Given the description of an element on the screen output the (x, y) to click on. 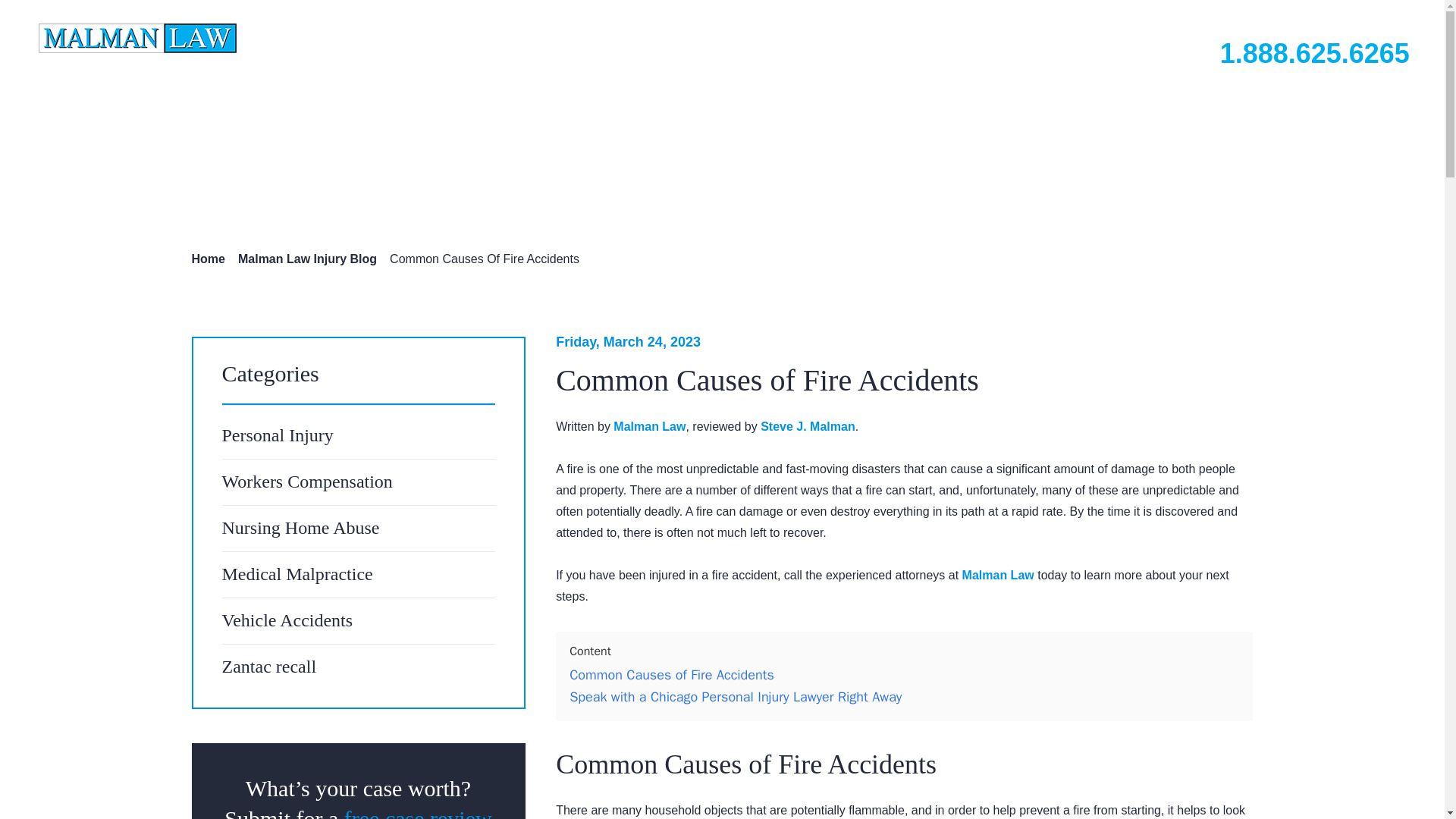
PRACTICE AREAS (631, 44)
Home (207, 258)
ABOUT (516, 44)
HOME (445, 44)
